Given the description of an element on the screen output the (x, y) to click on. 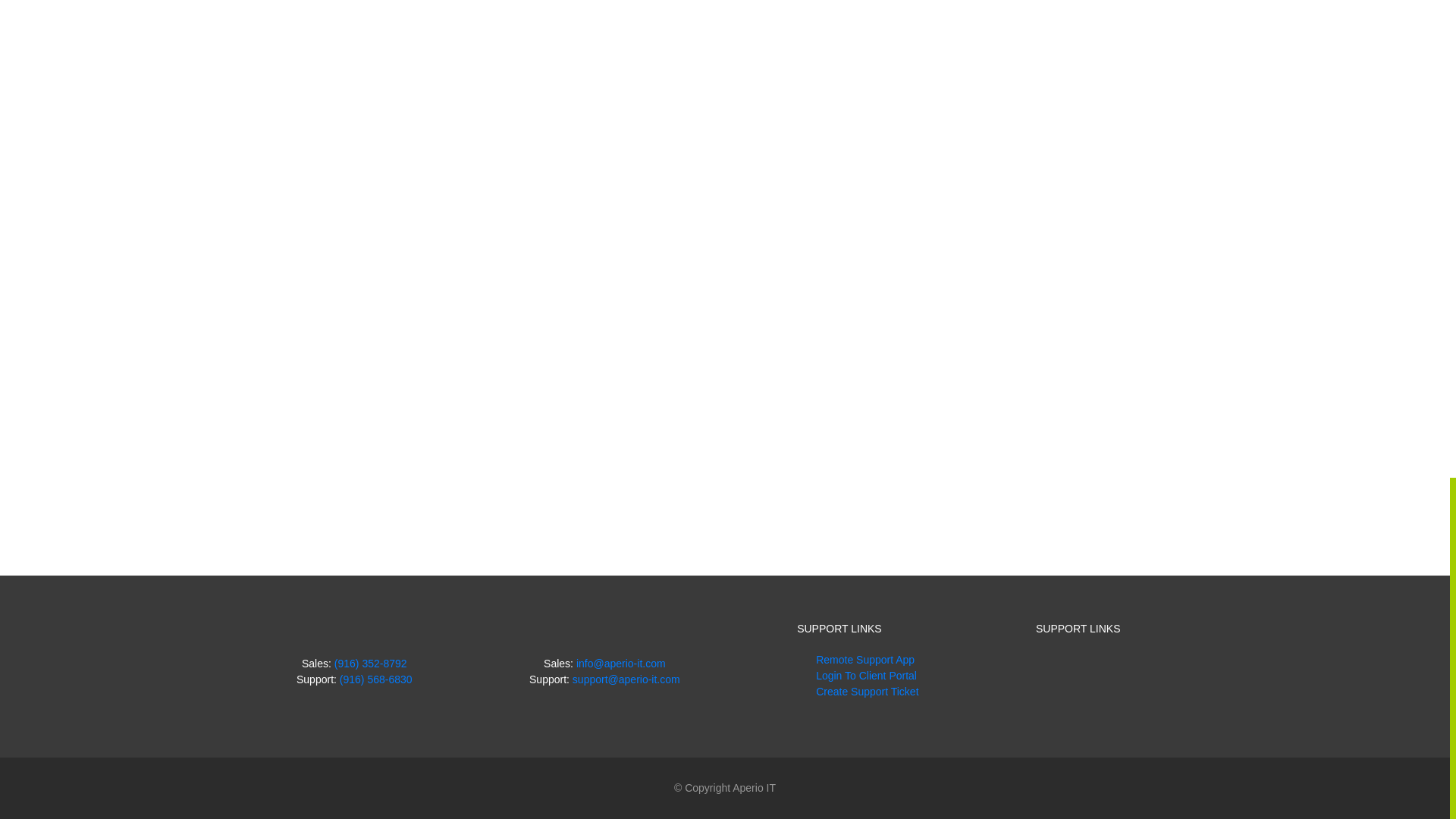
Remote Support App (864, 659)
Create Support Ticket (866, 691)
Login To Client Portal (866, 675)
